Given the description of an element on the screen output the (x, y) to click on. 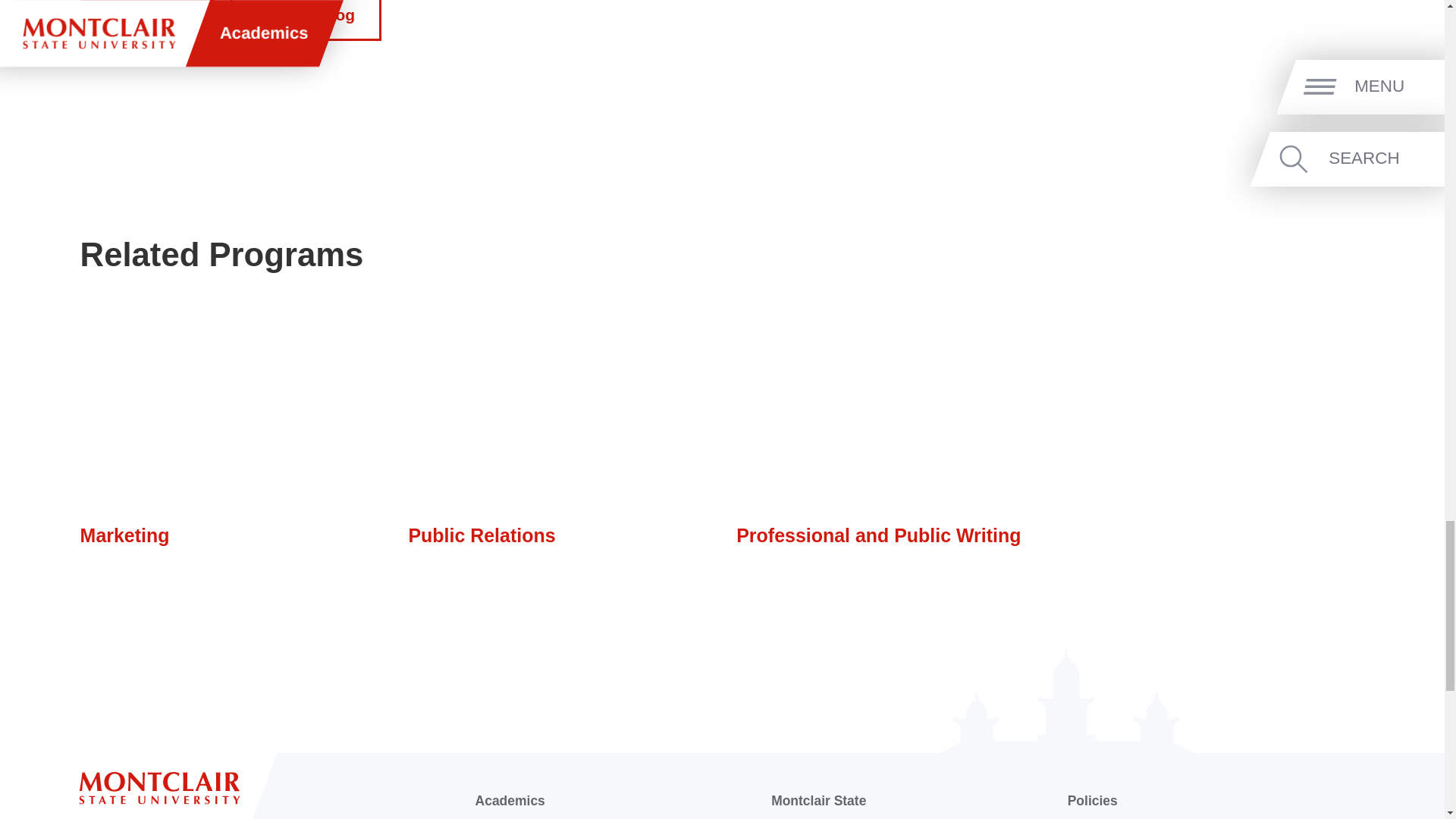
View Catalog (305, 20)
Marketing (125, 535)
Apply Now (147, 20)
